Given the description of an element on the screen output the (x, y) to click on. 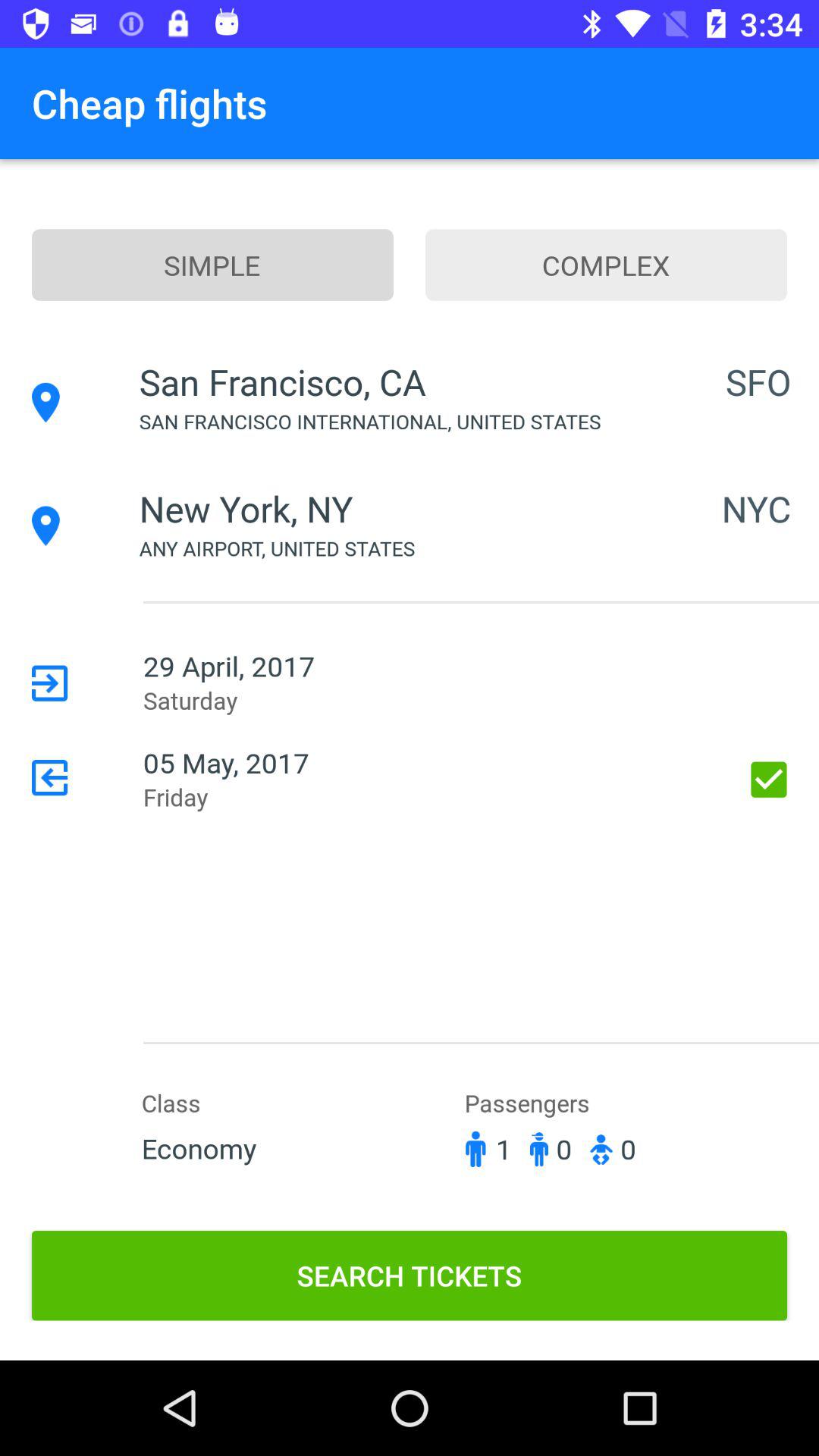
click the item below the 1 item (409, 1275)
